Given the description of an element on the screen output the (x, y) to click on. 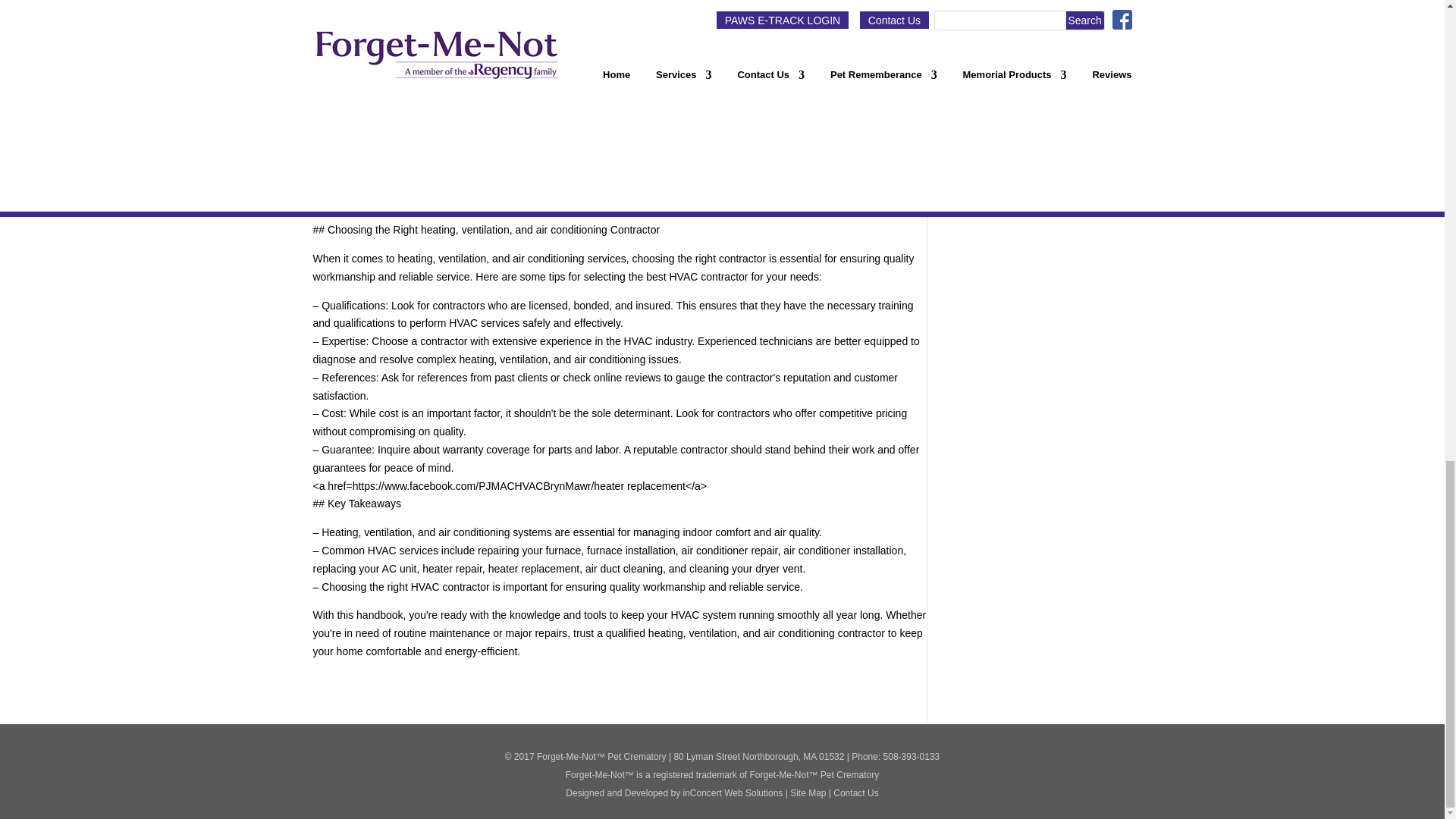
Site Map (807, 792)
inConcert Web Solutions (732, 792)
Contact Us (854, 792)
